Given the description of an element on the screen output the (x, y) to click on. 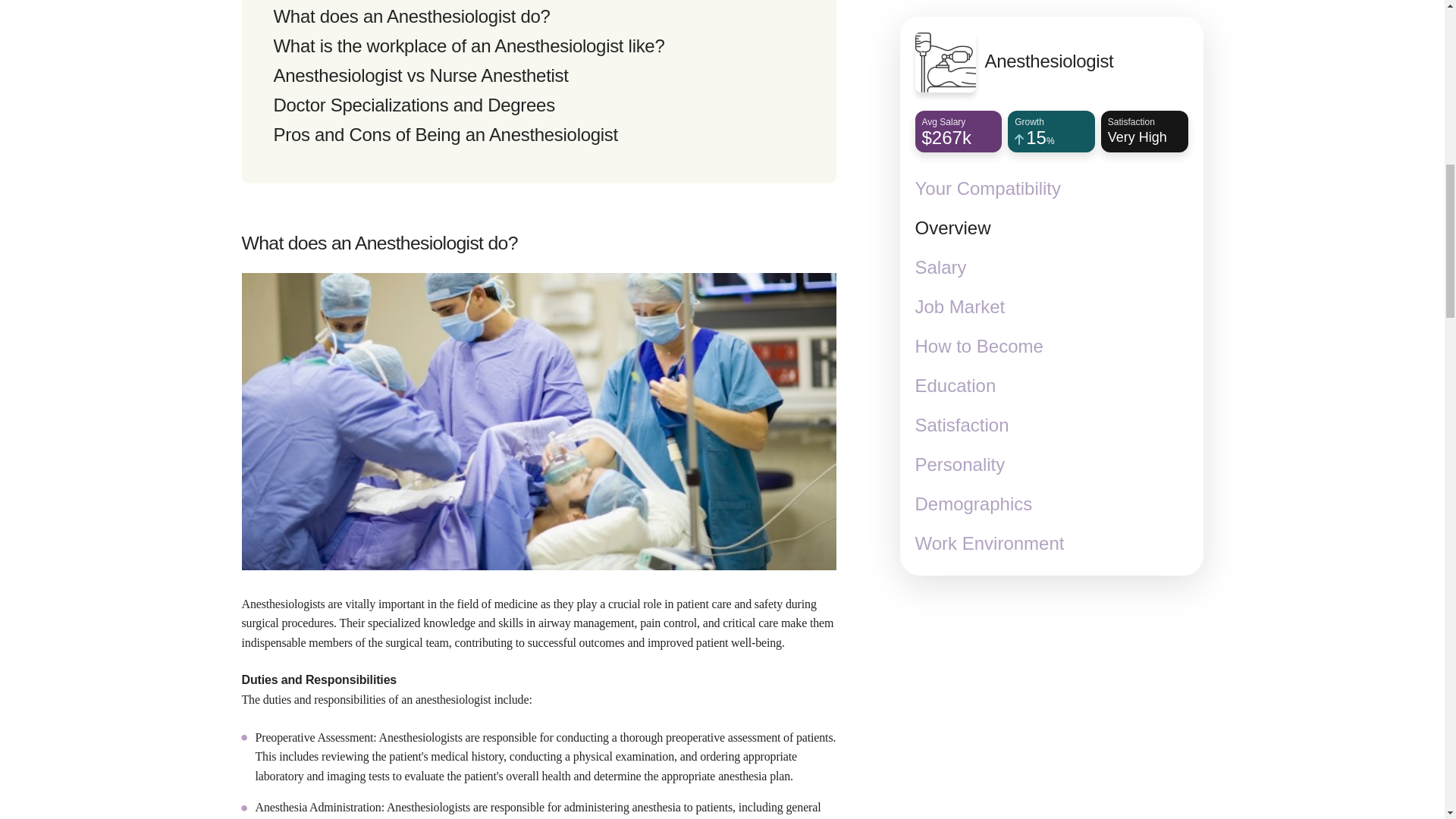
Table of contents (538, 91)
